Given the description of an element on the screen output the (x, y) to click on. 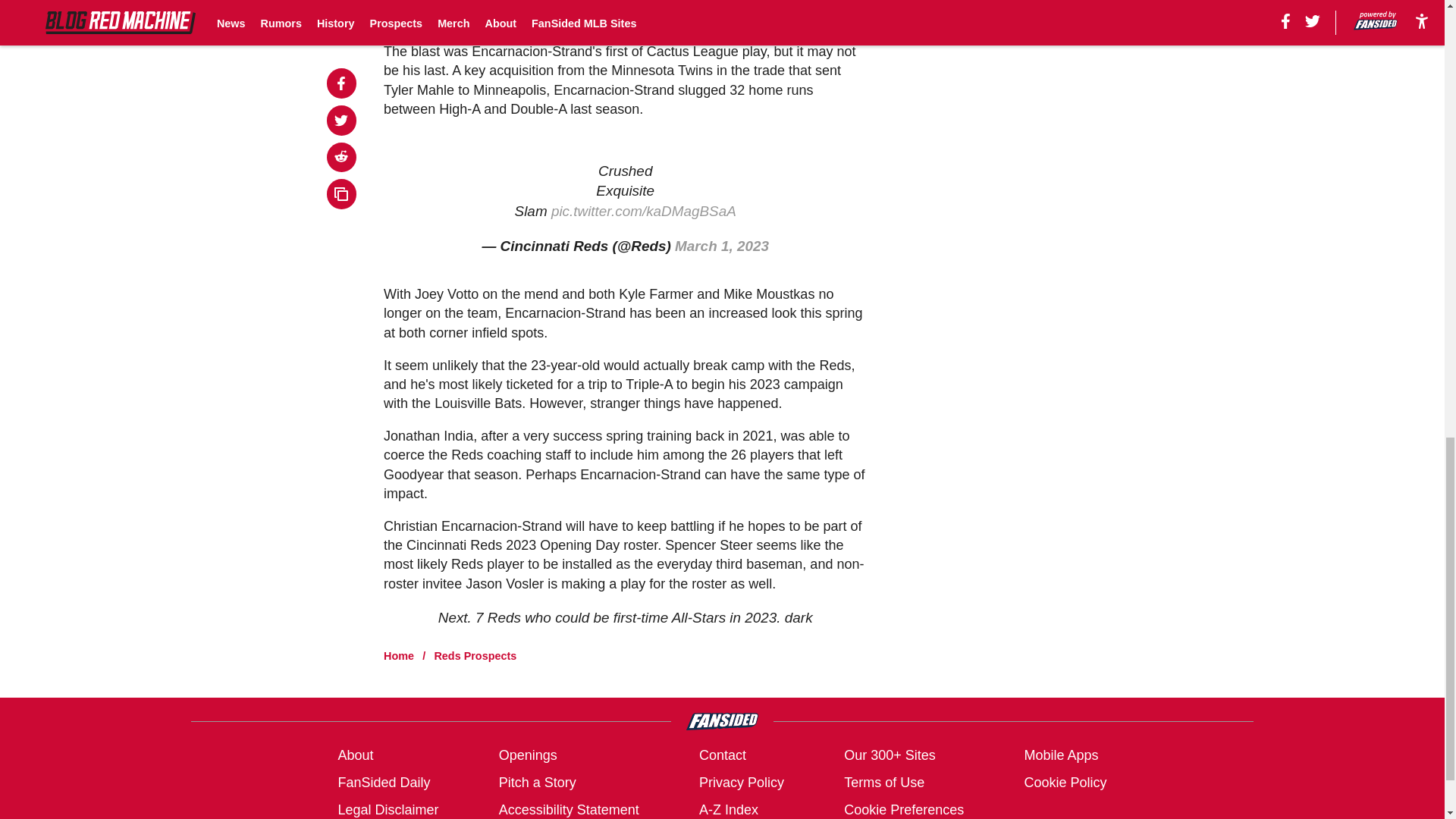
Reds Prospects (474, 655)
March 1, 2023 (721, 245)
Home (398, 655)
About (354, 754)
Contact (721, 754)
Openings (528, 754)
